Given the description of an element on the screen output the (x, y) to click on. 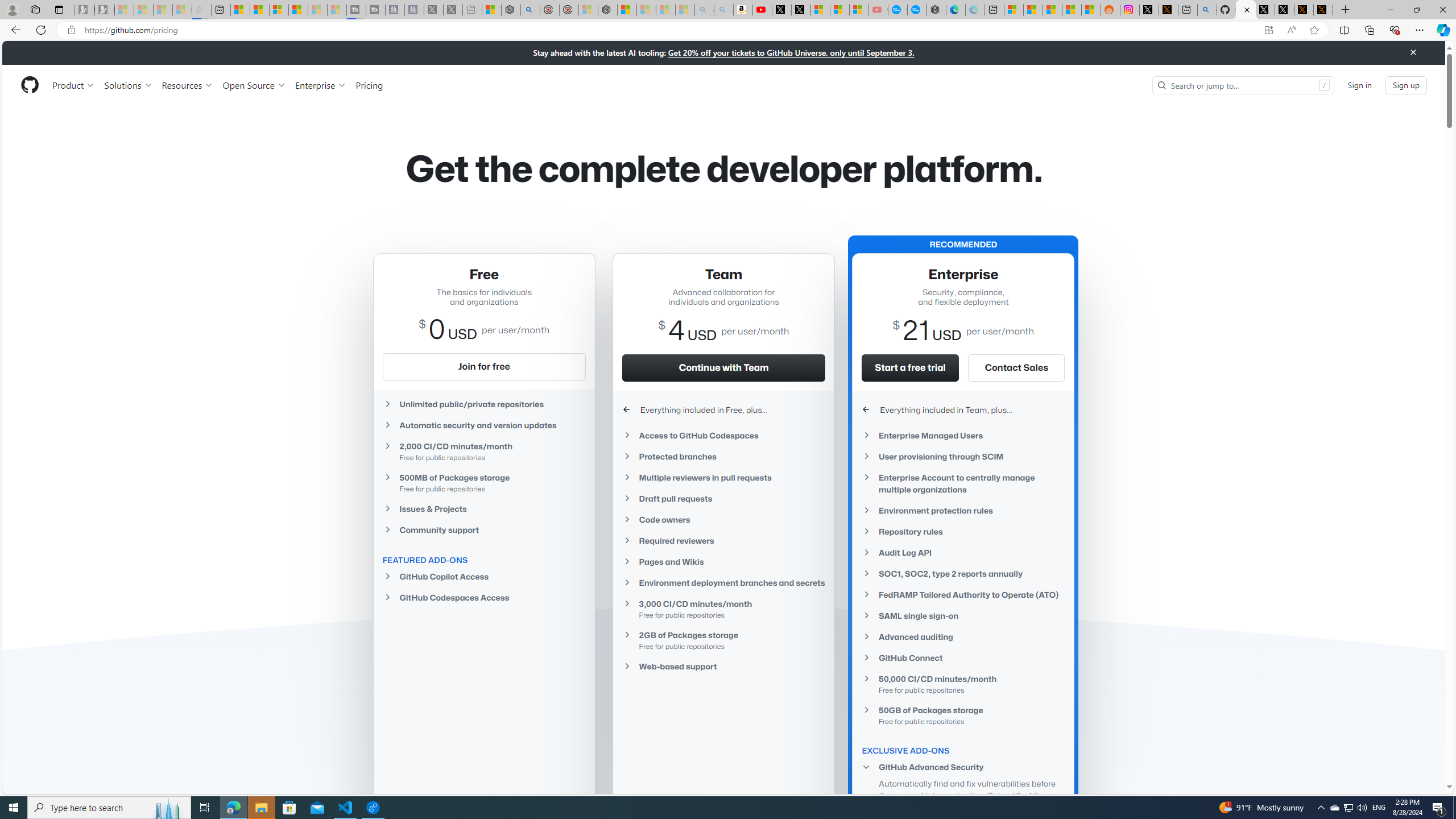
Protected branches (723, 456)
Opinion: Op-Ed and Commentary - USA TODAY (897, 9)
Protected branches (723, 456)
GitHub (@github) / X (1283, 9)
Overview (279, 9)
Microsoft account | Microsoft Account Privacy Settings (1012, 9)
X Privacy Policy (1323, 9)
amazon - Search - Sleeping (704, 9)
Draft pull requests (723, 498)
